Given the description of an element on the screen output the (x, y) to click on. 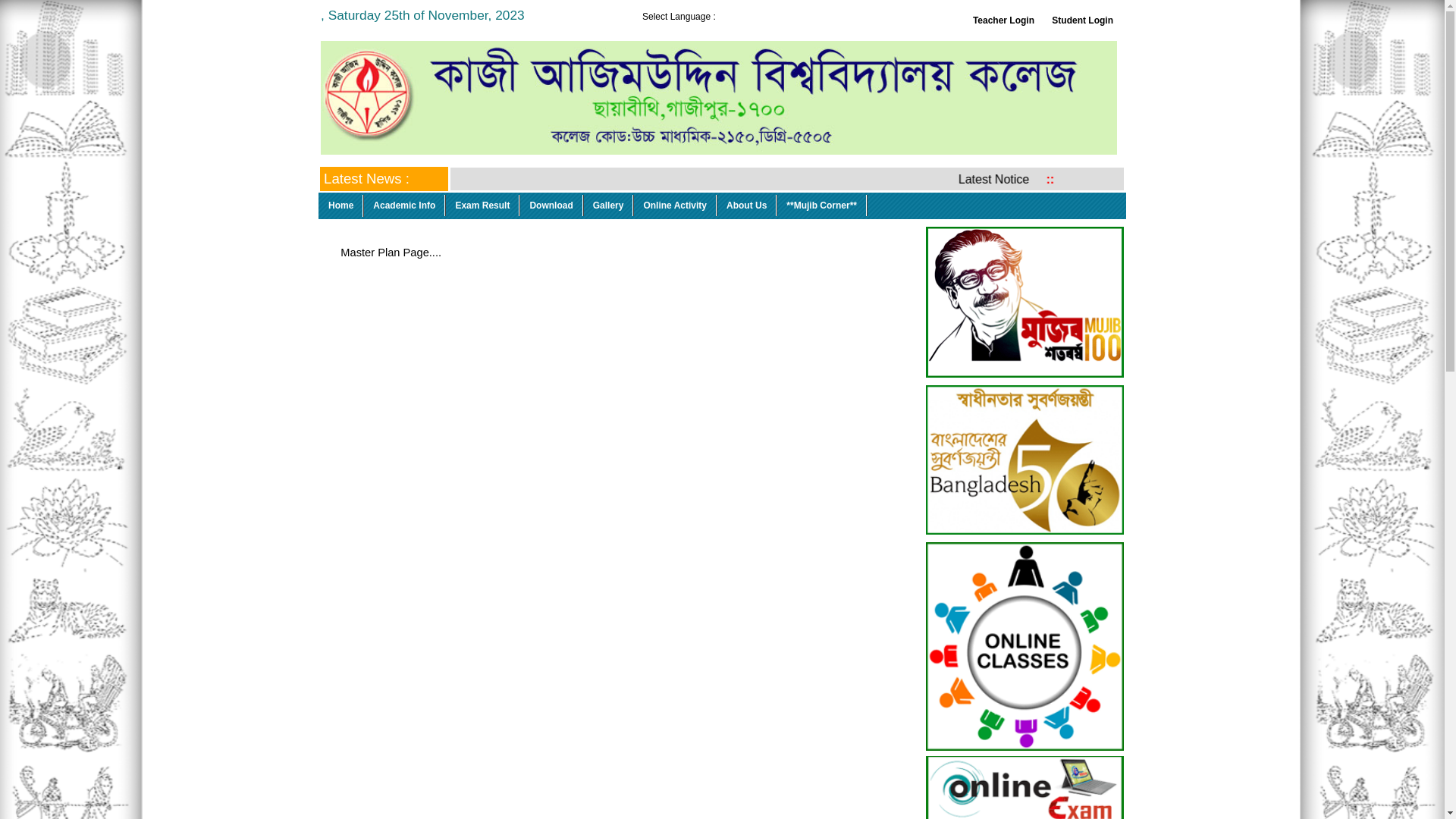
Online Activity Element type: text (674, 205)
Exam Result Element type: text (482, 205)
About Us Element type: text (746, 205)
**Mujib Corner** Element type: text (821, 205)
Student Login Element type: text (1082, 20)
Home Element type: text (341, 205)
Gallery Element type: text (608, 205)
Download Element type: text (551, 205)
Teacher Login Element type: text (1003, 20)
Latest Notice Element type: text (1025, 178)
Academic Info Element type: text (404, 205)
